Given the description of an element on the screen output the (x, y) to click on. 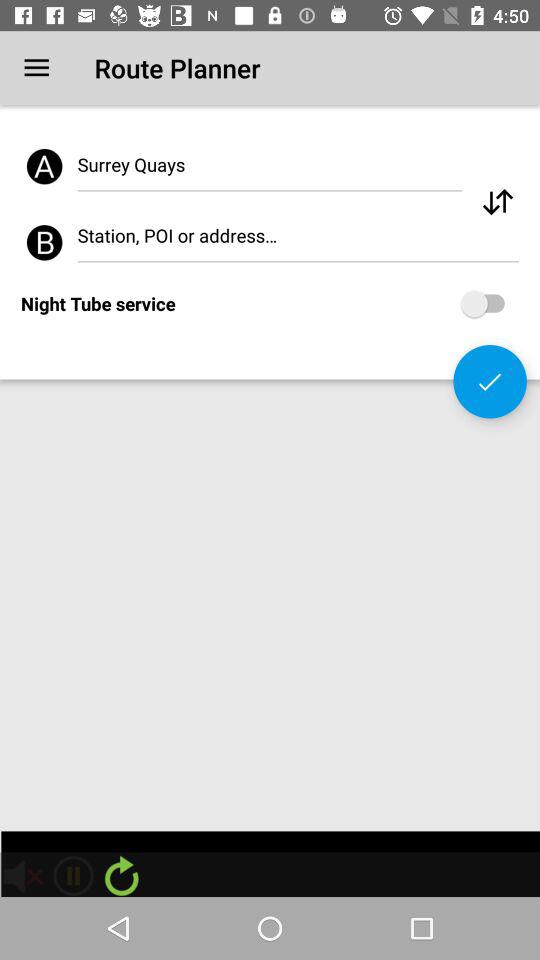
scroll the page (498, 202)
